Given the description of an element on the screen output the (x, y) to click on. 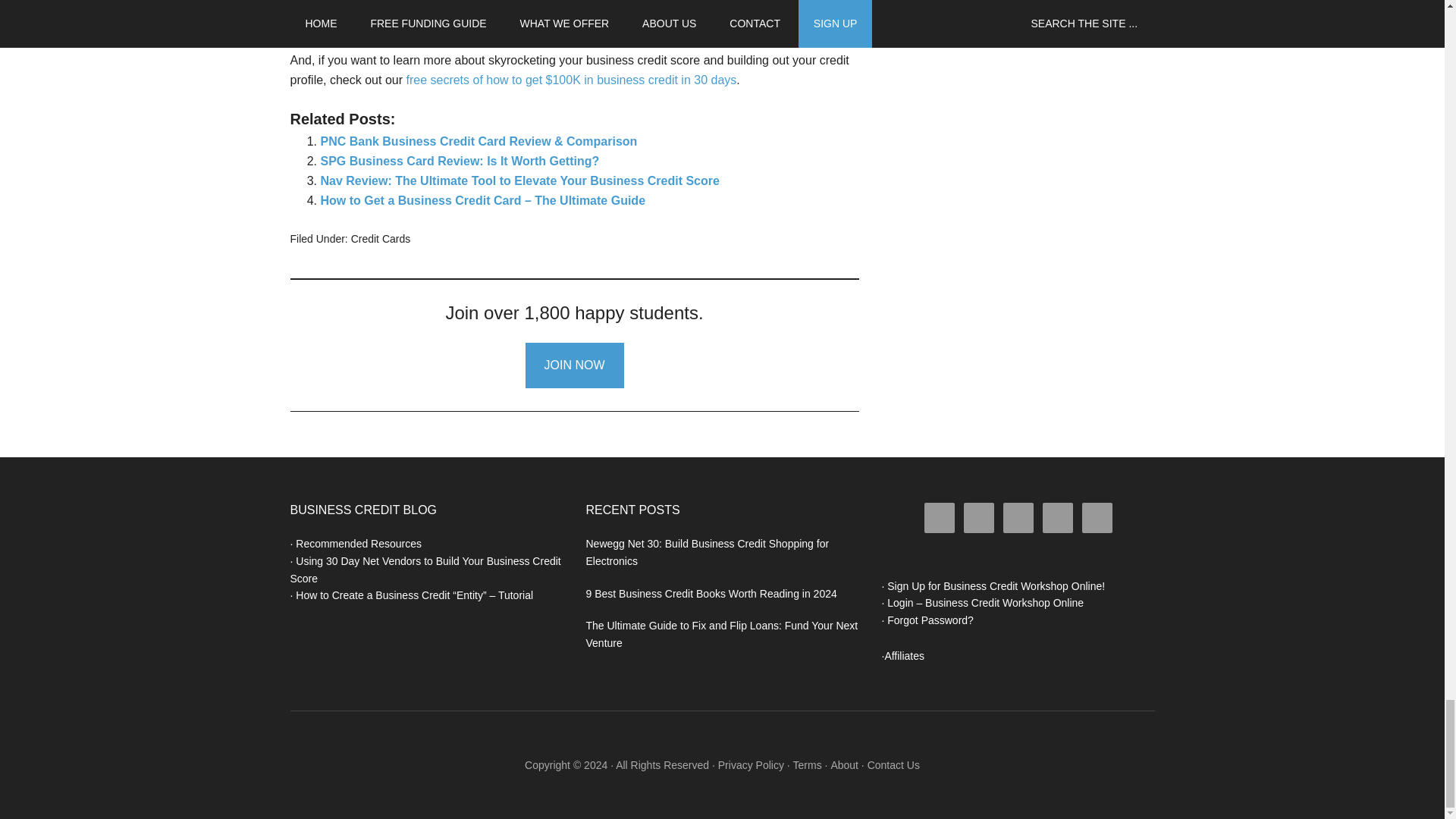
SPG Business Card Review: Is It Worth Getting? (459, 160)
JOIN NOW (573, 365)
SPG Business Card Review: Is It Worth Getting? (459, 160)
Credit Cards (380, 238)
